Given the description of an element on the screen output the (x, y) to click on. 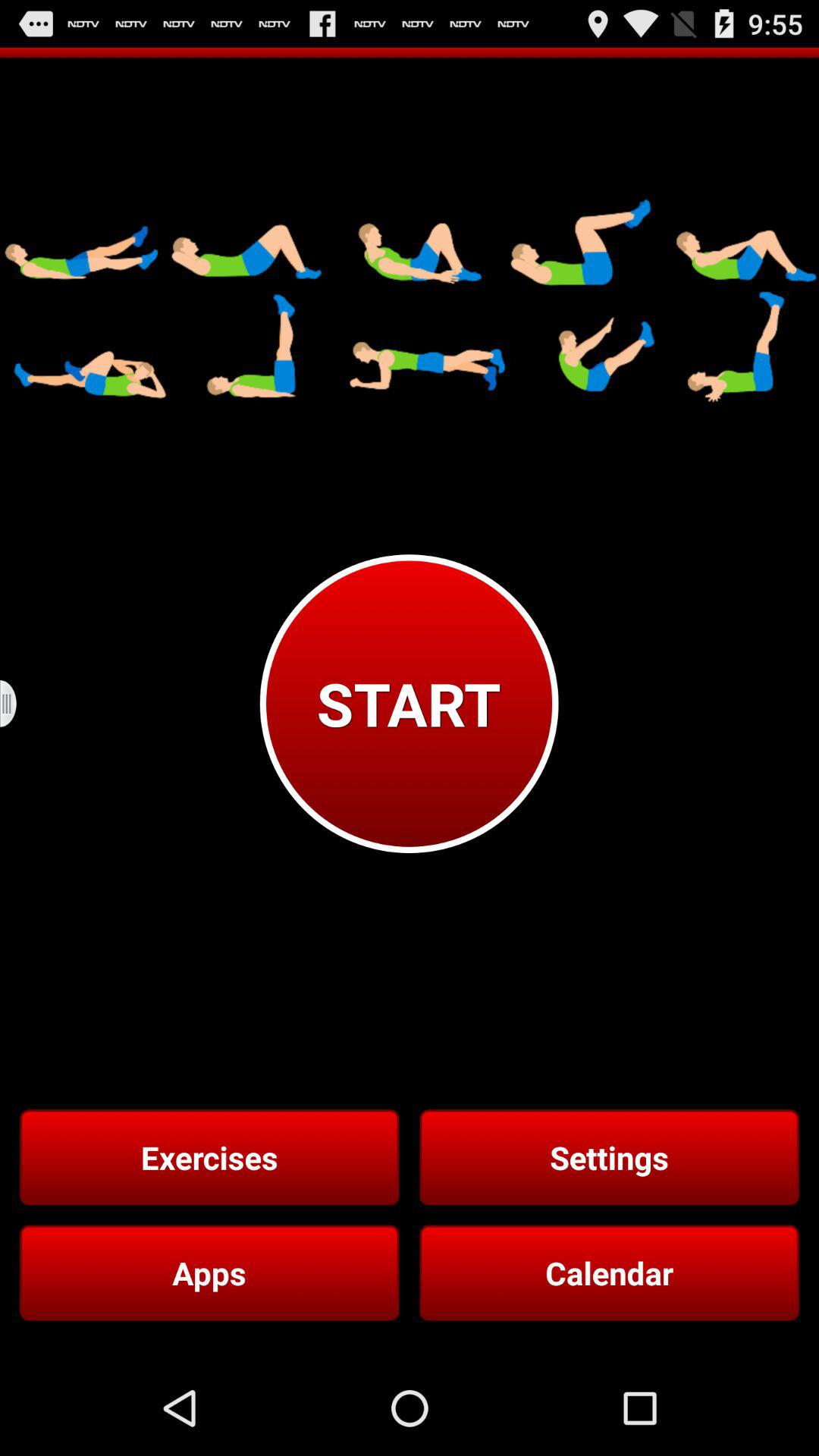
turn on the settings item (609, 1157)
